Given the description of an element on the screen output the (x, y) to click on. 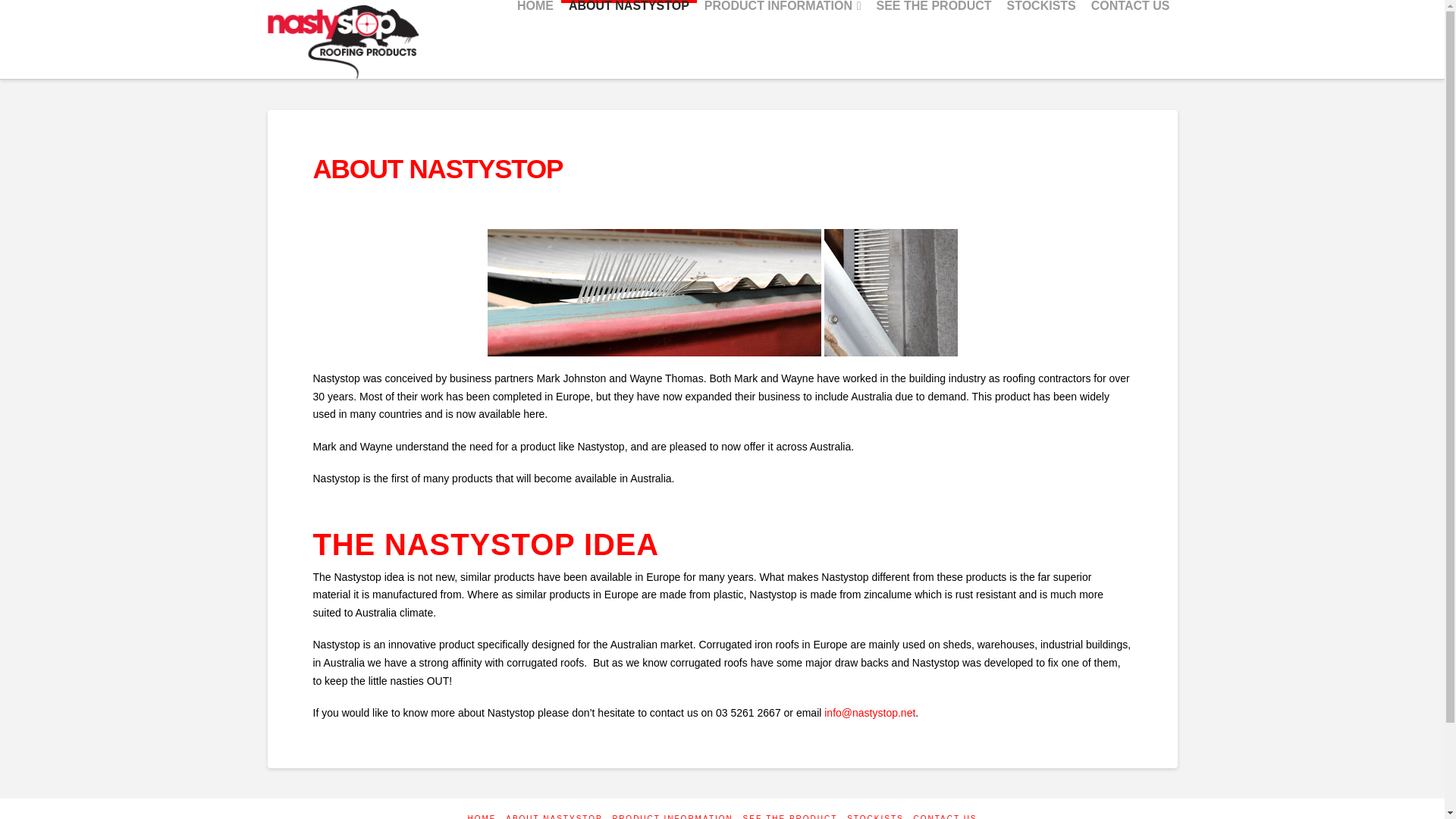
HOME (481, 816)
STOCKISTS (1040, 38)
SEE THE PRODUCT (933, 38)
ABOUT NASTYSTOP (553, 816)
CONTACT US (1130, 38)
CONTACT US (944, 816)
STOCKISTS (875, 816)
SEE THE PRODUCT (790, 816)
ABOUT NASTYSTOP (628, 38)
PRODUCT INFORMATION (671, 816)
